Given the description of an element on the screen output the (x, y) to click on. 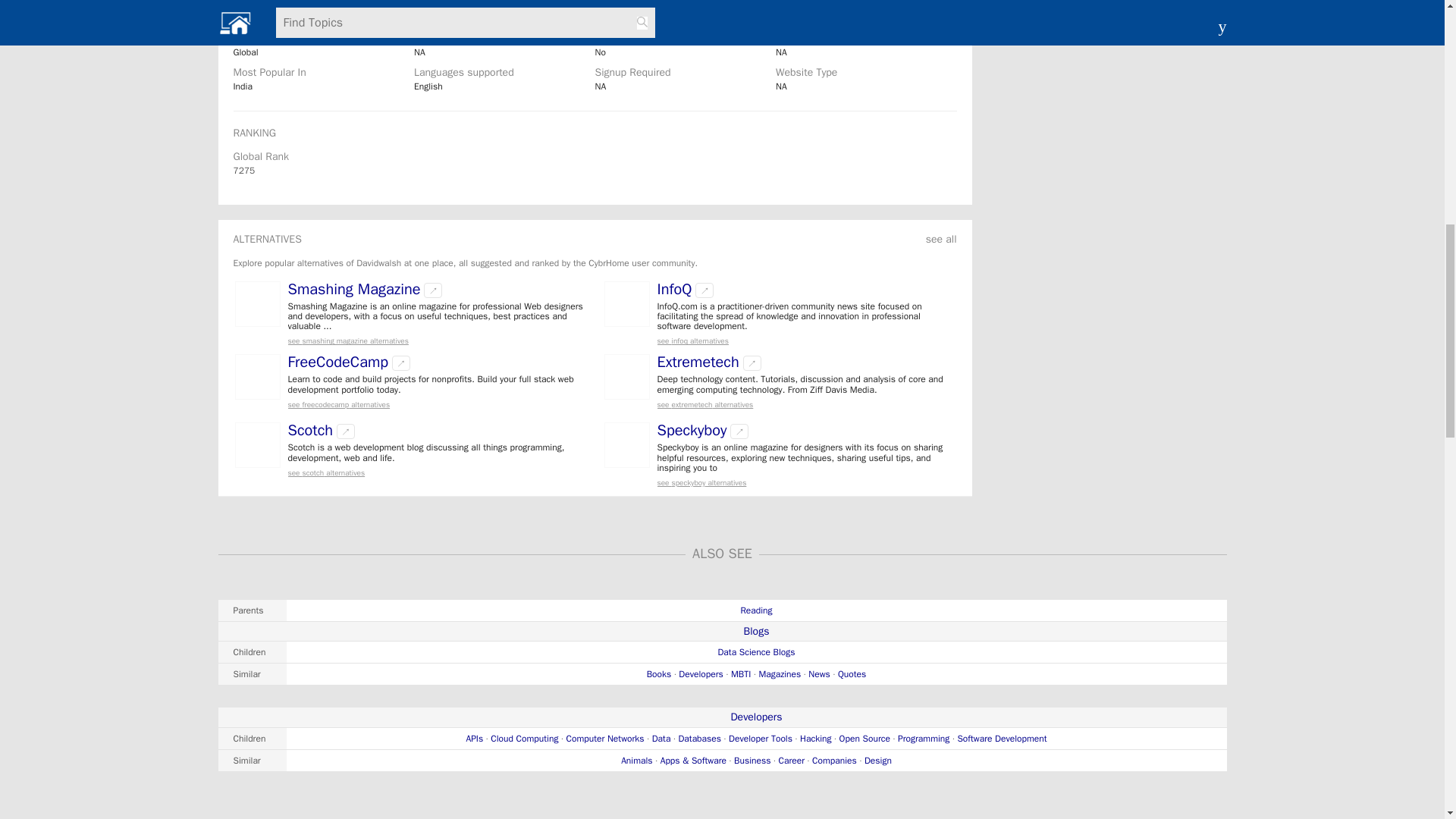
Similar topics for Blogs (722, 673)
Children topics for Blogs (722, 651)
FreeCodeCamp (338, 361)
see freecodecamp alternatives (437, 404)
Scotch (310, 429)
Websites for all kinds of News. (818, 674)
see smashing magazine alternatives (437, 340)
see extremetech alternatives (805, 404)
InfoQ (673, 289)
Speckyboy (691, 429)
